Given the description of an element on the screen output the (x, y) to click on. 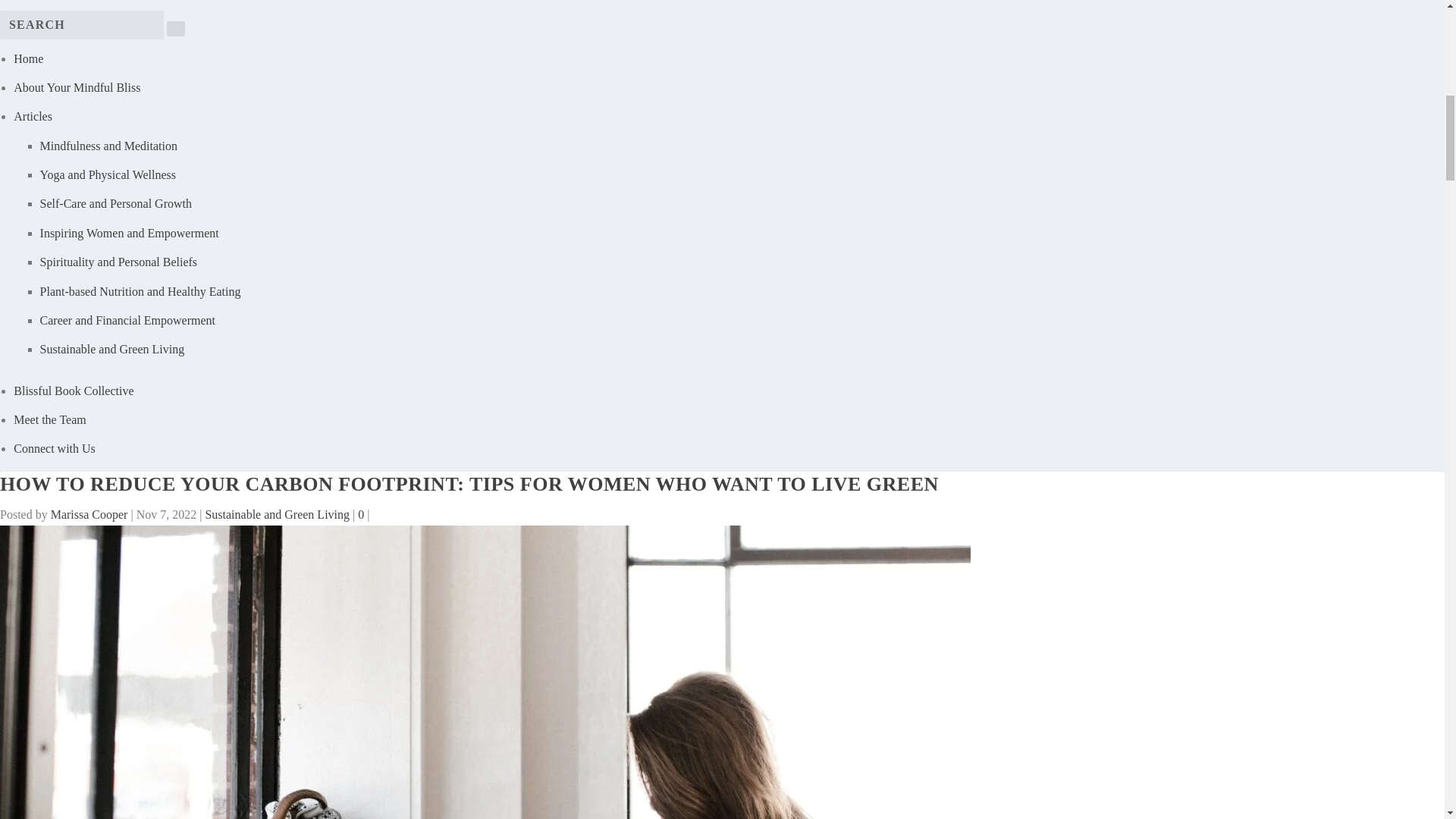
Spirituality and Personal Beliefs (119, 261)
Blissful Book Collective (73, 390)
Meet the Team (49, 419)
Posts by Marissa Cooper (89, 513)
Sustainable and Green Living (112, 349)
Self-Care and Personal Growth (116, 203)
Yoga and Physical Wellness (108, 174)
About Your Mindful Bliss (76, 87)
Mindfulness and Meditation (108, 145)
Plant-based Nutrition and Healthy Eating (140, 291)
Career and Financial Empowerment (127, 319)
Articles (32, 115)
Inspiring Women and Empowerment (129, 232)
Home (28, 58)
Search for: (81, 24)
